Given the description of an element on the screen output the (x, y) to click on. 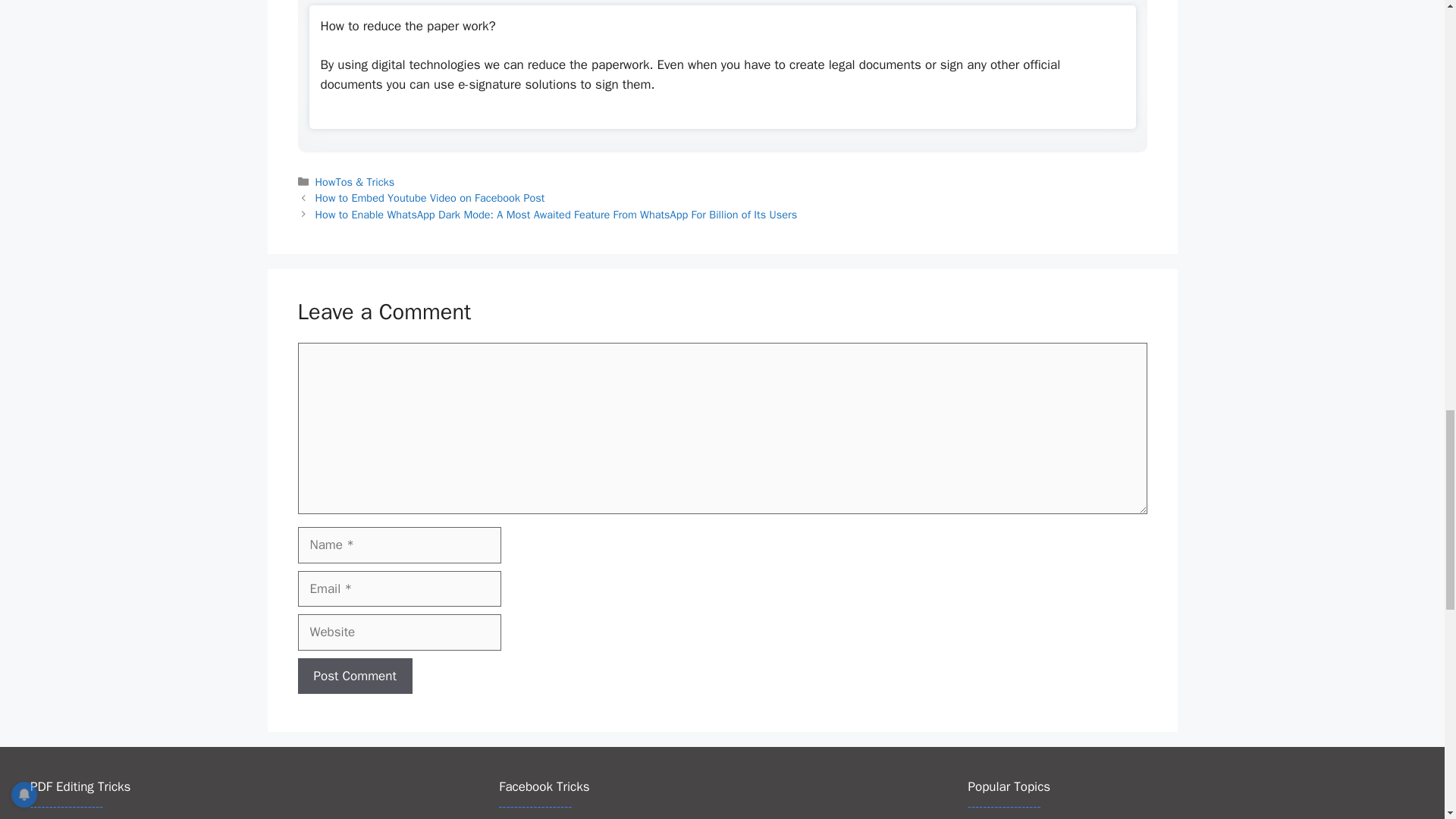
Post Comment (354, 676)
